Given the description of an element on the screen output the (x, y) to click on. 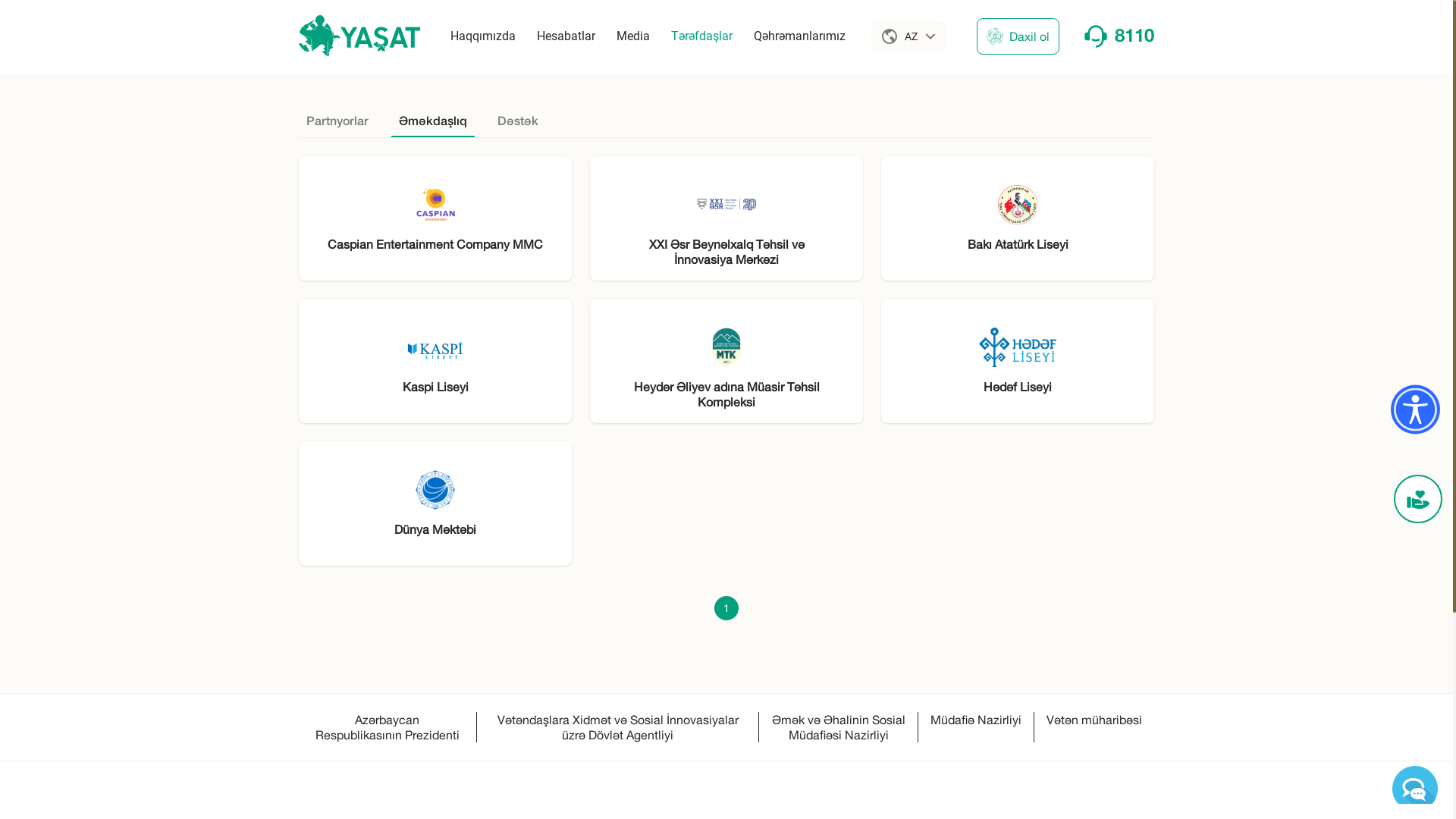
Daxil ol Element type: text (1017, 36)
Partnyorlar Element type: text (337, 112)
Hesabatlar Element type: text (565, 35)
Media Element type: text (632, 35)
